Given the description of an element on the screen output the (x, y) to click on. 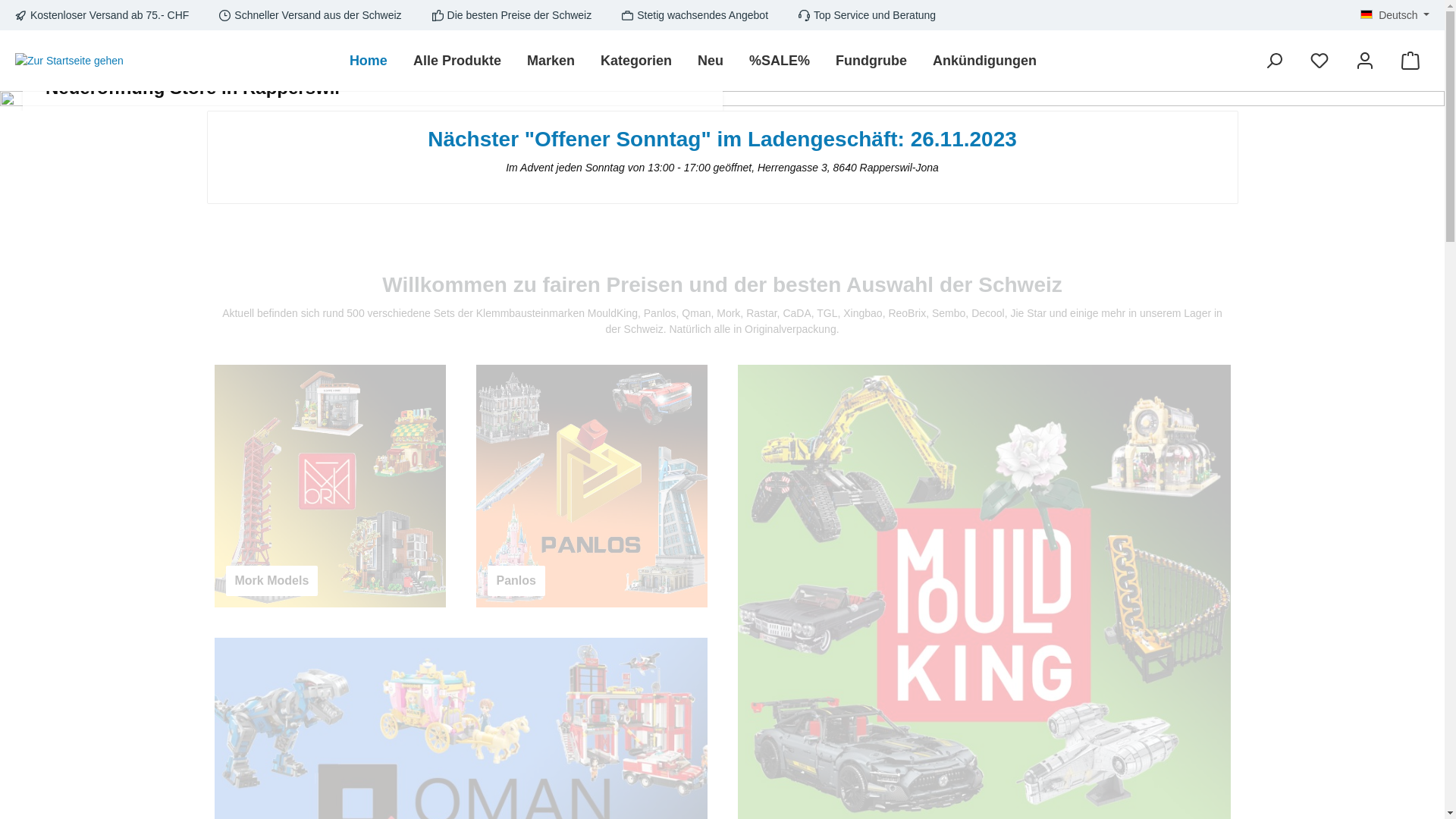
Marken Element type: text (550, 60)
Zur Startseite gehen Element type: hover (69, 60)
Fundgrube Element type: text (870, 60)
Alle Produkte Element type: text (457, 60)
Mein Konto Element type: hover (1364, 60)
Merkzettel Element type: hover (1319, 60)
%SALE% Element type: text (779, 60)
Home Element type: text (368, 60)
Kategorien Element type: text (635, 60)
Deutsch Element type: text (1394, 15)
Neu Element type: text (710, 60)
Warenkorb Element type: hover (1410, 60)
